Given the description of an element on the screen output the (x, y) to click on. 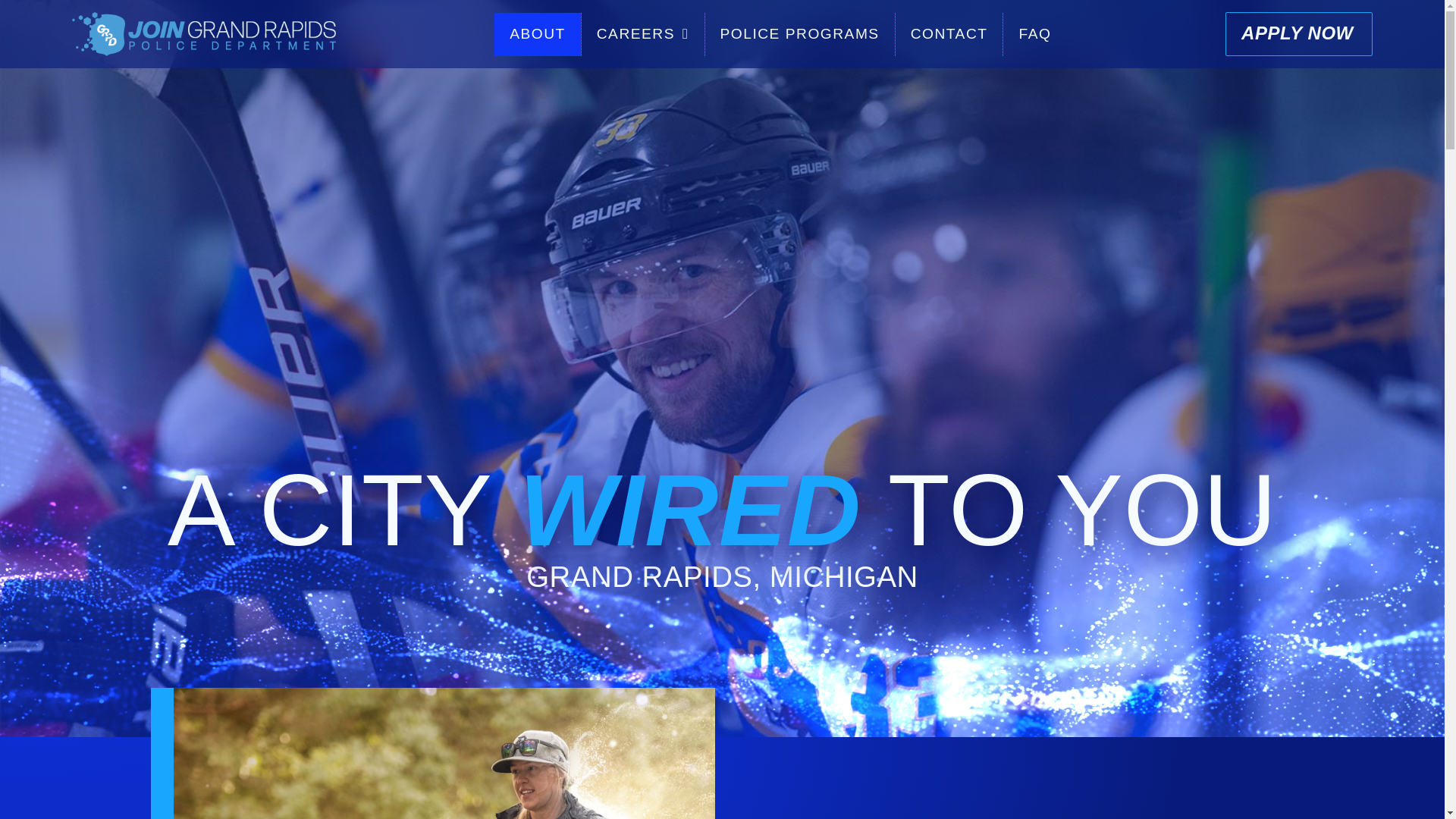
FAQ (1034, 33)
POLICE PROGRAMS (799, 33)
CAREERS (642, 33)
CONTACT (949, 33)
APPLY NOW (1299, 34)
ABOUT (537, 33)
